Given the description of an element on the screen output the (x, y) to click on. 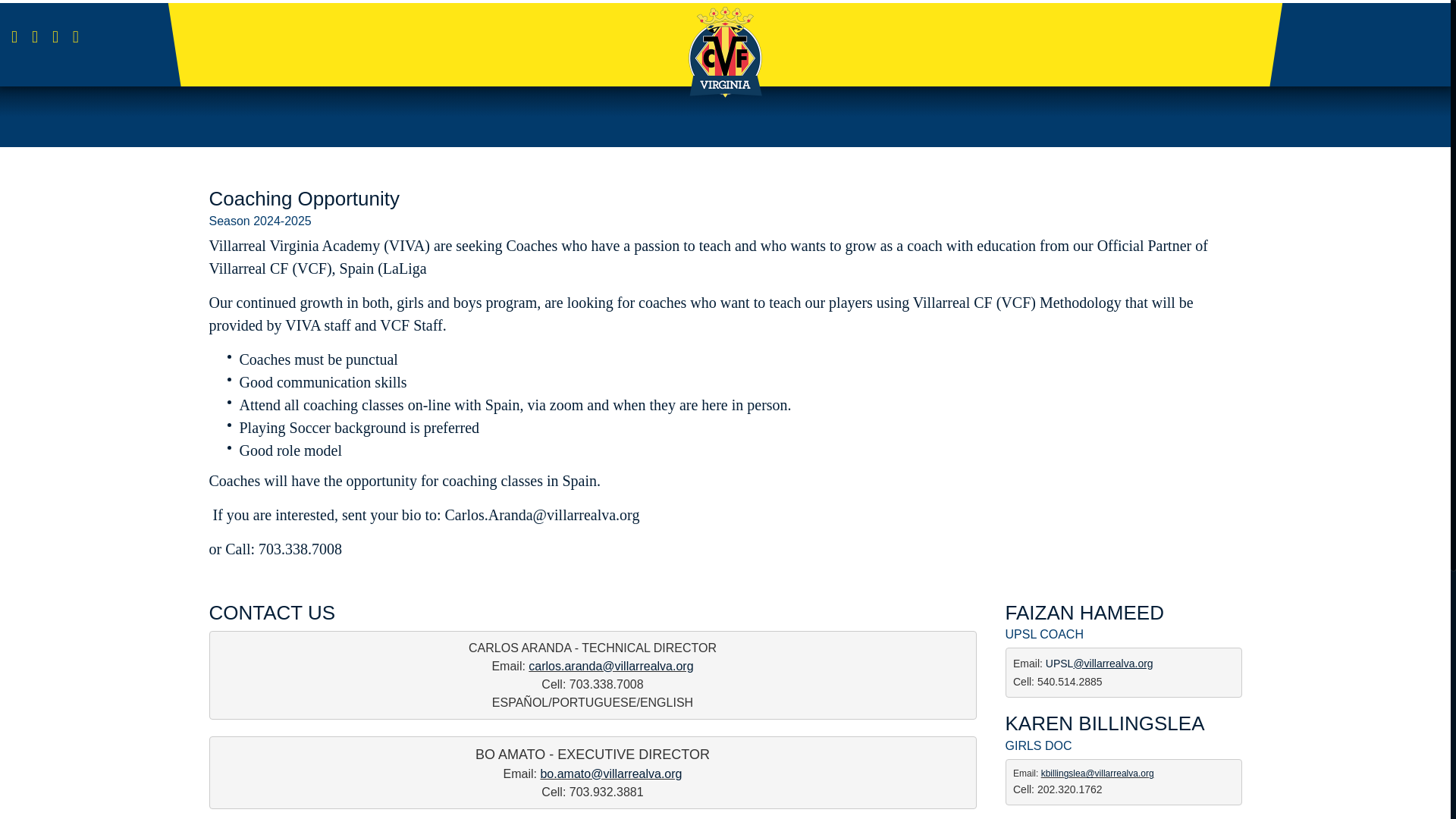
KAREN BILLINGSLEA (1105, 722)
UPSL (1059, 663)
CONTACT US (272, 612)
Coaching Opportunity (303, 198)
FAIZAN HAMEED (1084, 612)
